Given the description of an element on the screen output the (x, y) to click on. 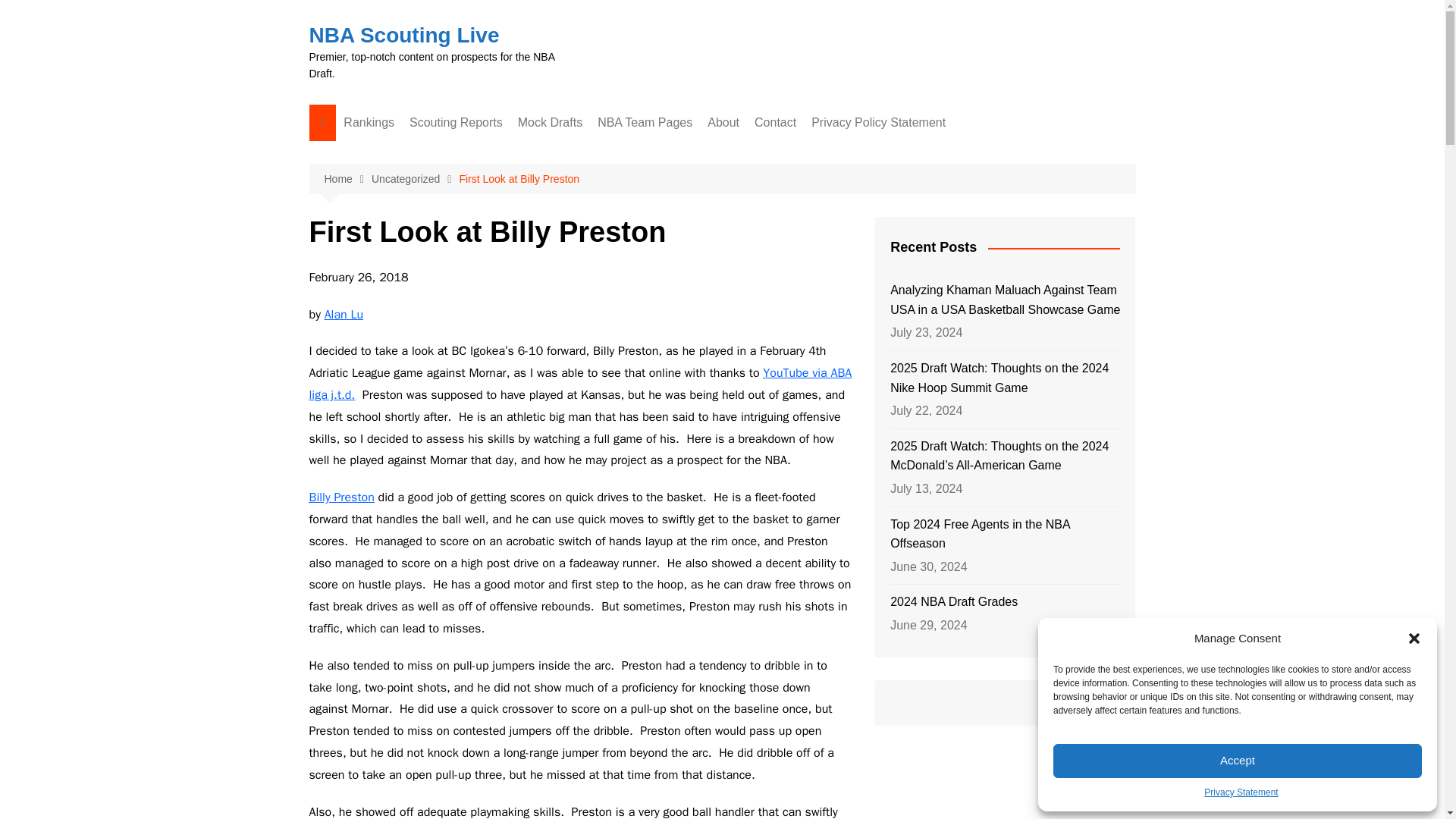
2022 Scouting Reports (485, 228)
2019 Top 100 Prospect Rankings (419, 349)
2017 Scouting Reports (485, 353)
Our NBA Content (419, 456)
2021 NBA Mock Draft (594, 228)
Mock Drafts (550, 122)
2023 Top 100 Prospect Rankings (419, 198)
2022 NBA Mock Draft (594, 203)
Rankings (368, 122)
2020 Scouting Reports (485, 278)
2017 Top 100 Prospect Rankings (419, 425)
2024 Scouting Reports (485, 153)
2024 Top 100 Prospect Rankings (419, 159)
NBA Scouting Live (403, 34)
Privacy Statement (1241, 792)
